Given the description of an element on the screen output the (x, y) to click on. 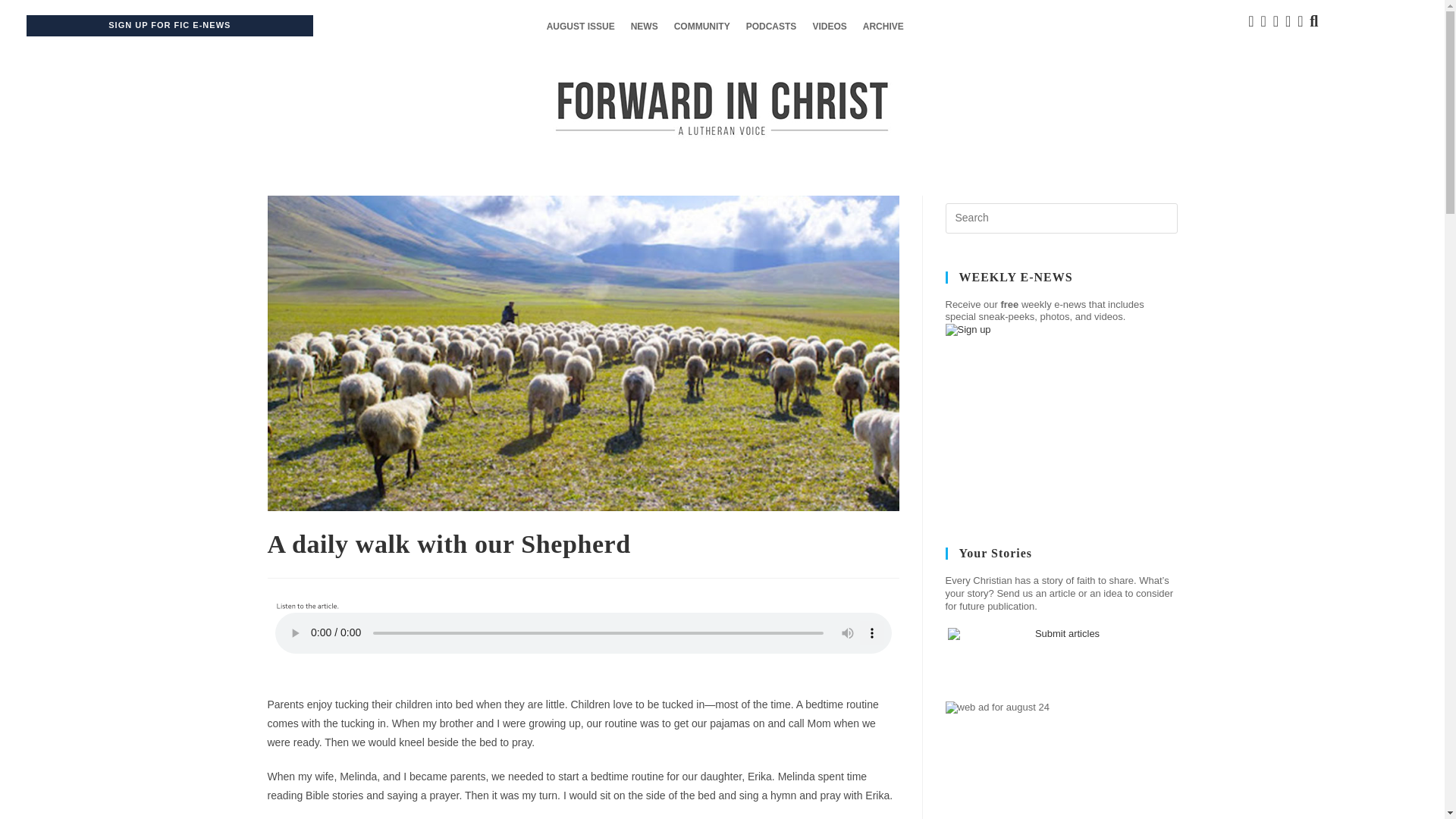
SIGN UP FOR FIC E-NEWS (168, 25)
COMMUNITY (702, 27)
VIDEOS (829, 27)
ARCHIVE (883, 27)
AUGUST ISSUE (580, 27)
ficWebLogo (721, 107)
PODCASTS (771, 27)
NEWS (644, 27)
SUBSCRIBE (559, 516)
